Given the description of an element on the screen output the (x, y) to click on. 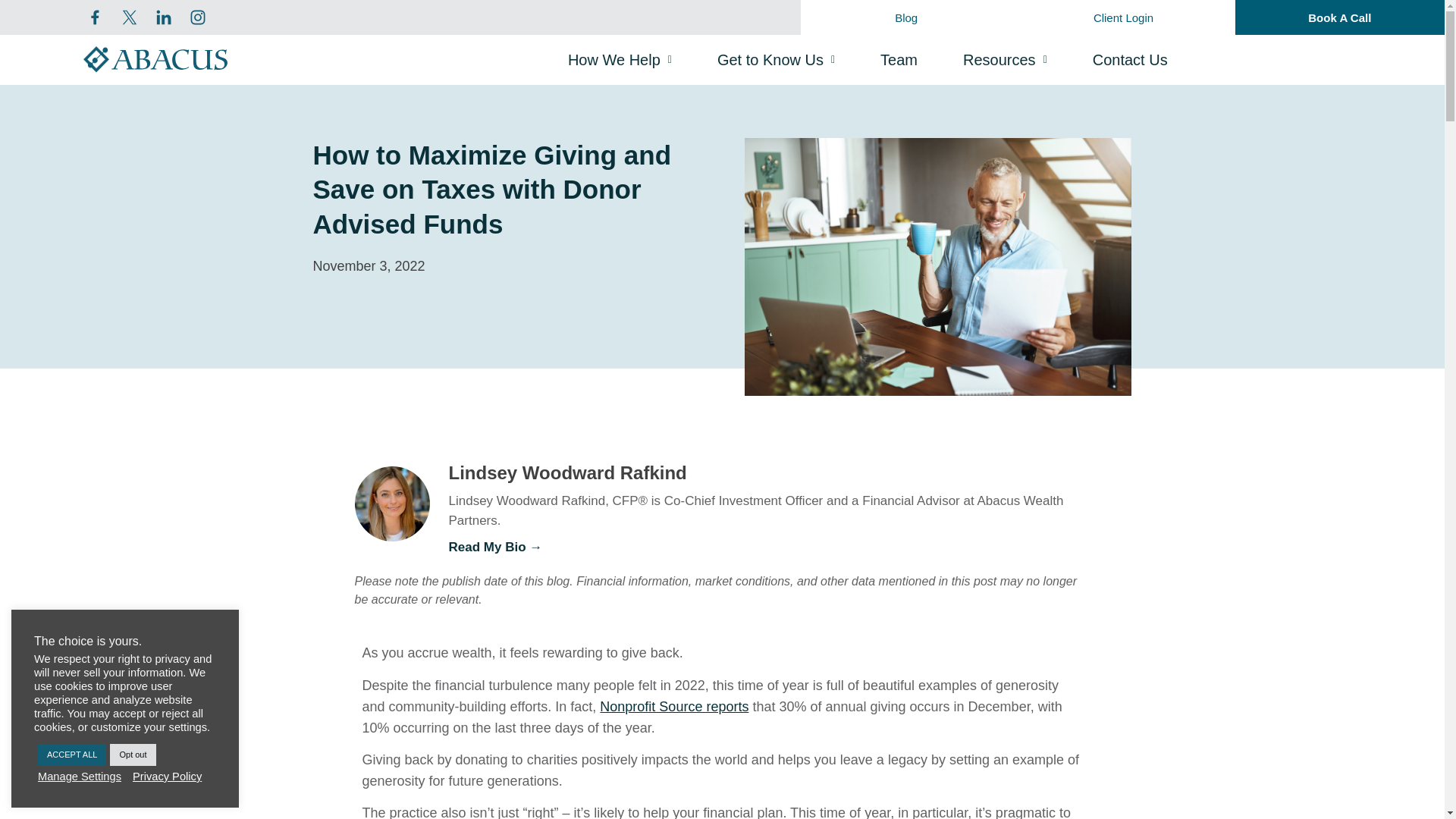
How We Help (619, 59)
Client Login (1122, 17)
Contact Us (1130, 59)
Resources (1004, 59)
Team (898, 59)
Get to Know Us (775, 59)
Blog (905, 17)
